Given the description of an element on the screen output the (x, y) to click on. 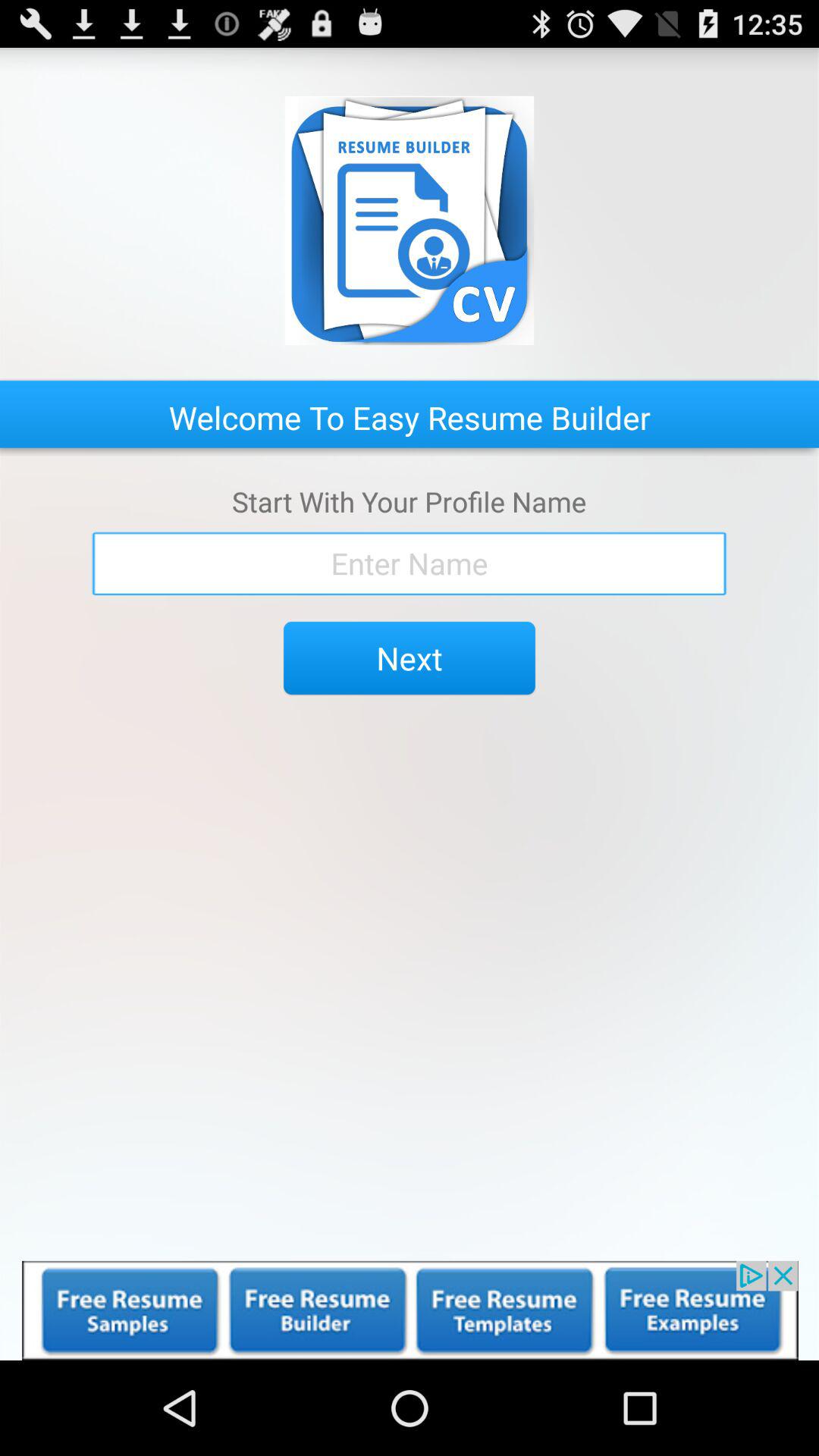
go to name box (409, 563)
